Given the description of an element on the screen output the (x, y) to click on. 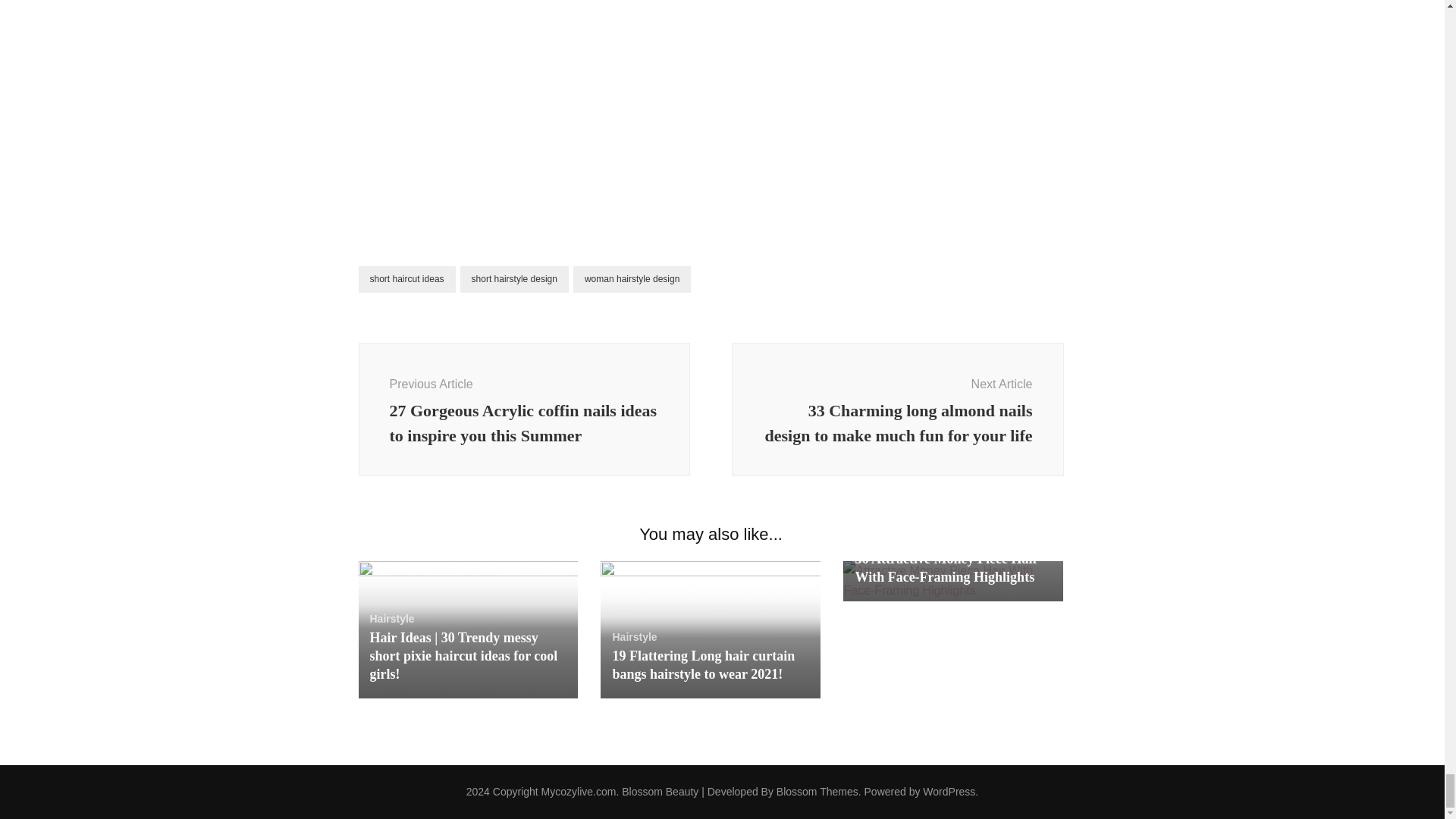
woman hairstyle design (631, 279)
Hairstyle (391, 618)
short hairstyle design (514, 279)
Hairstyle (633, 636)
36 Attractive Money Piece Hair With Face-Framing Highlights (946, 567)
short haircut ideas (406, 279)
